Given the description of an element on the screen output the (x, y) to click on. 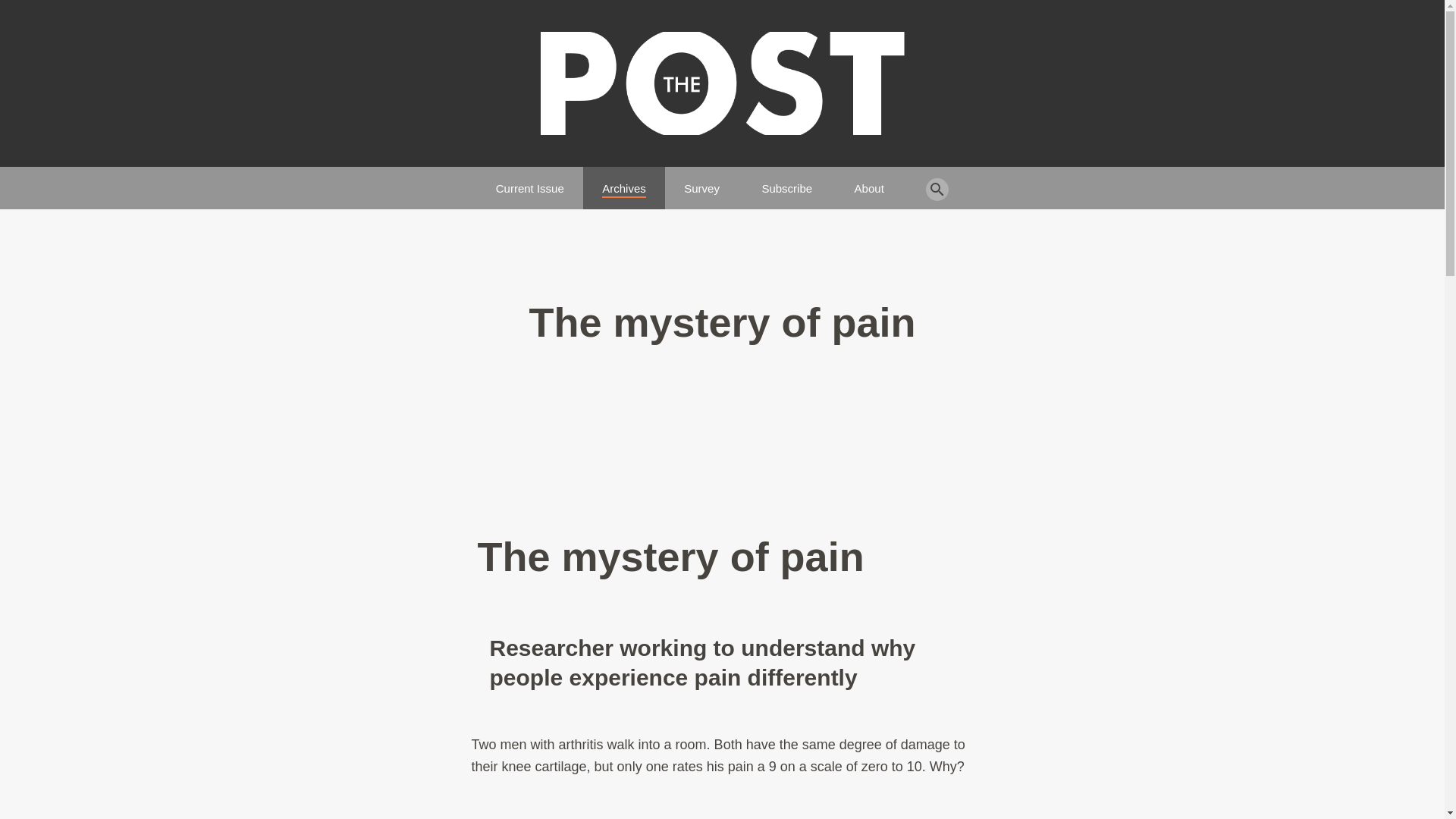
Subscribe (786, 182)
About (868, 182)
Current Issue (530, 182)
Survey (701, 182)
The POST - Home (722, 83)
Archives (624, 182)
